Given the description of an element on the screen output the (x, y) to click on. 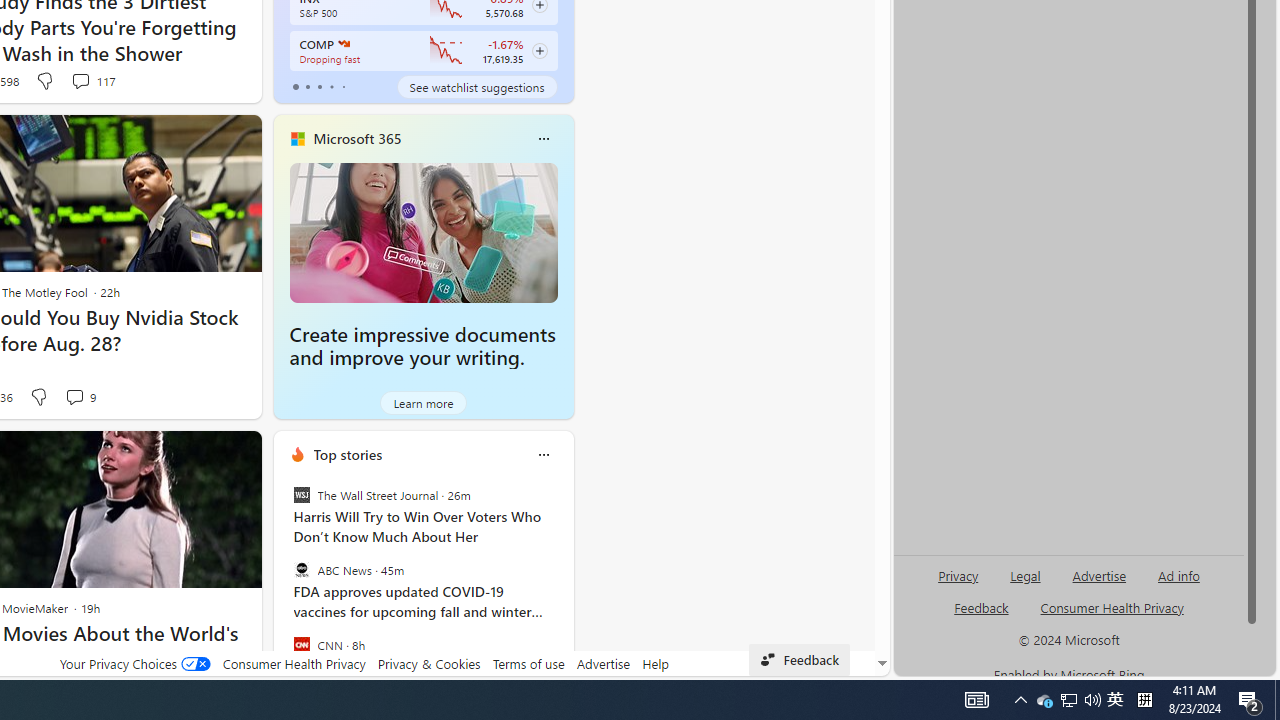
tab-3 (331, 86)
View comments 9 Comment (74, 396)
View comments 117 Comment (92, 80)
Create impressive documents and improve your writing. (422, 346)
Consumer Health Privacy (293, 663)
CNN (301, 644)
tab-2 (319, 86)
NASDAQ (342, 43)
View comments 117 Comment (80, 80)
Terms of use (527, 663)
